Given the description of an element on the screen output the (x, y) to click on. 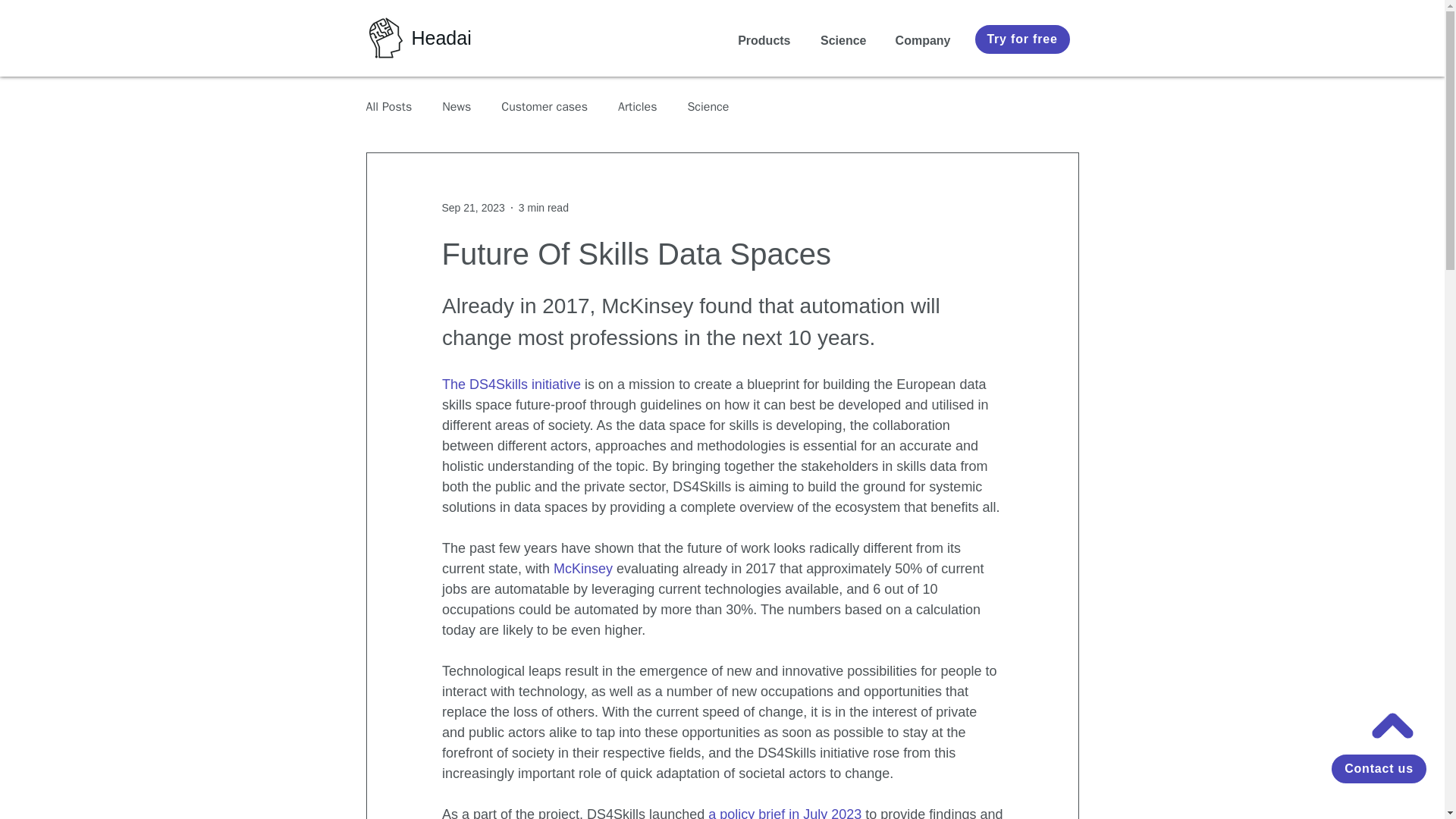
The DS4Skills initiative (510, 384)
Company (919, 40)
Try for free (1022, 39)
Science (839, 40)
Products (761, 40)
Articles (636, 106)
Headai (440, 37)
Sep 21, 2023 (472, 207)
McKinsey (582, 568)
Contact us (1379, 768)
